Given the description of an element on the screen output the (x, y) to click on. 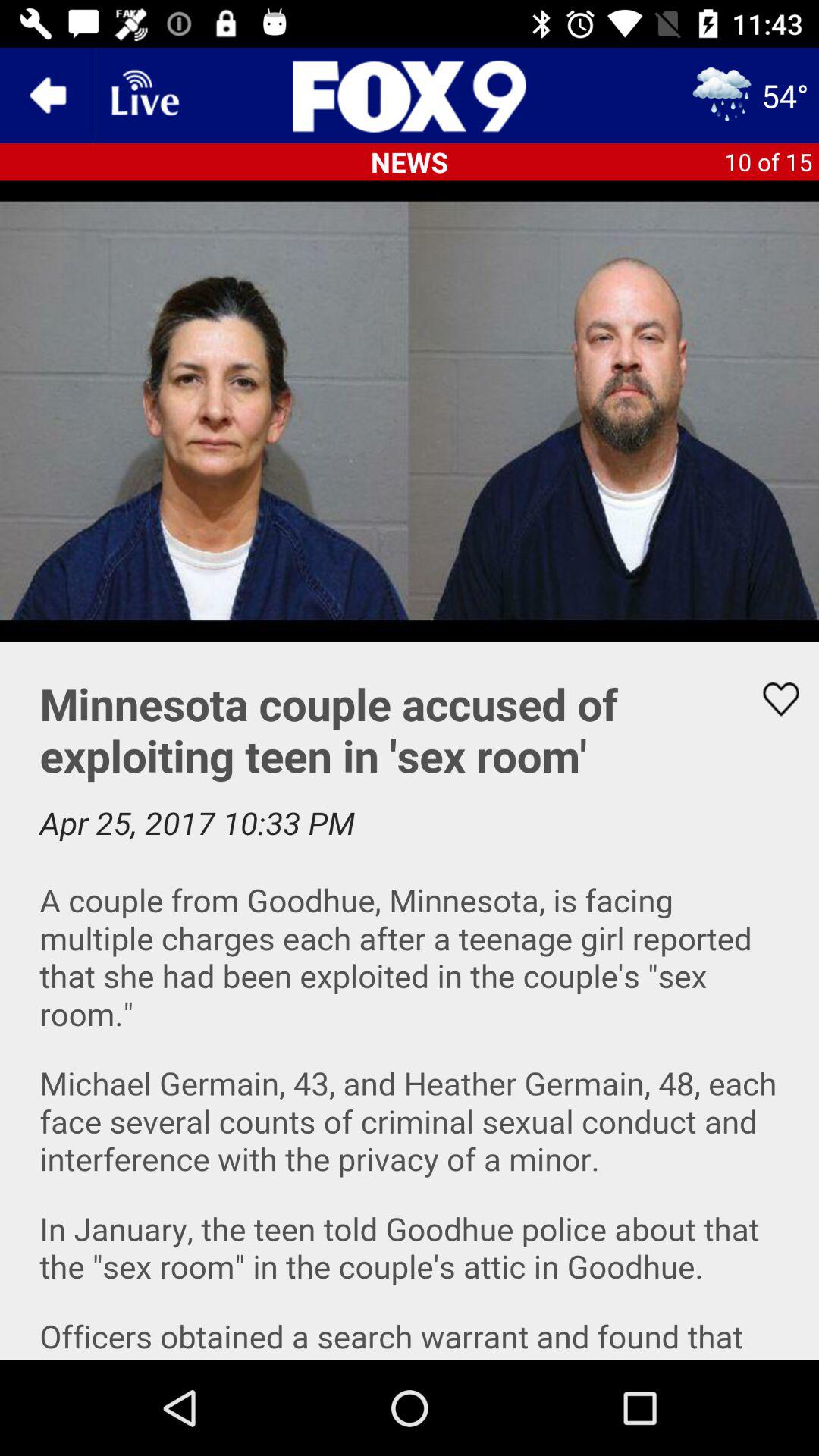
click to watch live (143, 95)
